Given the description of an element on the screen output the (x, y) to click on. 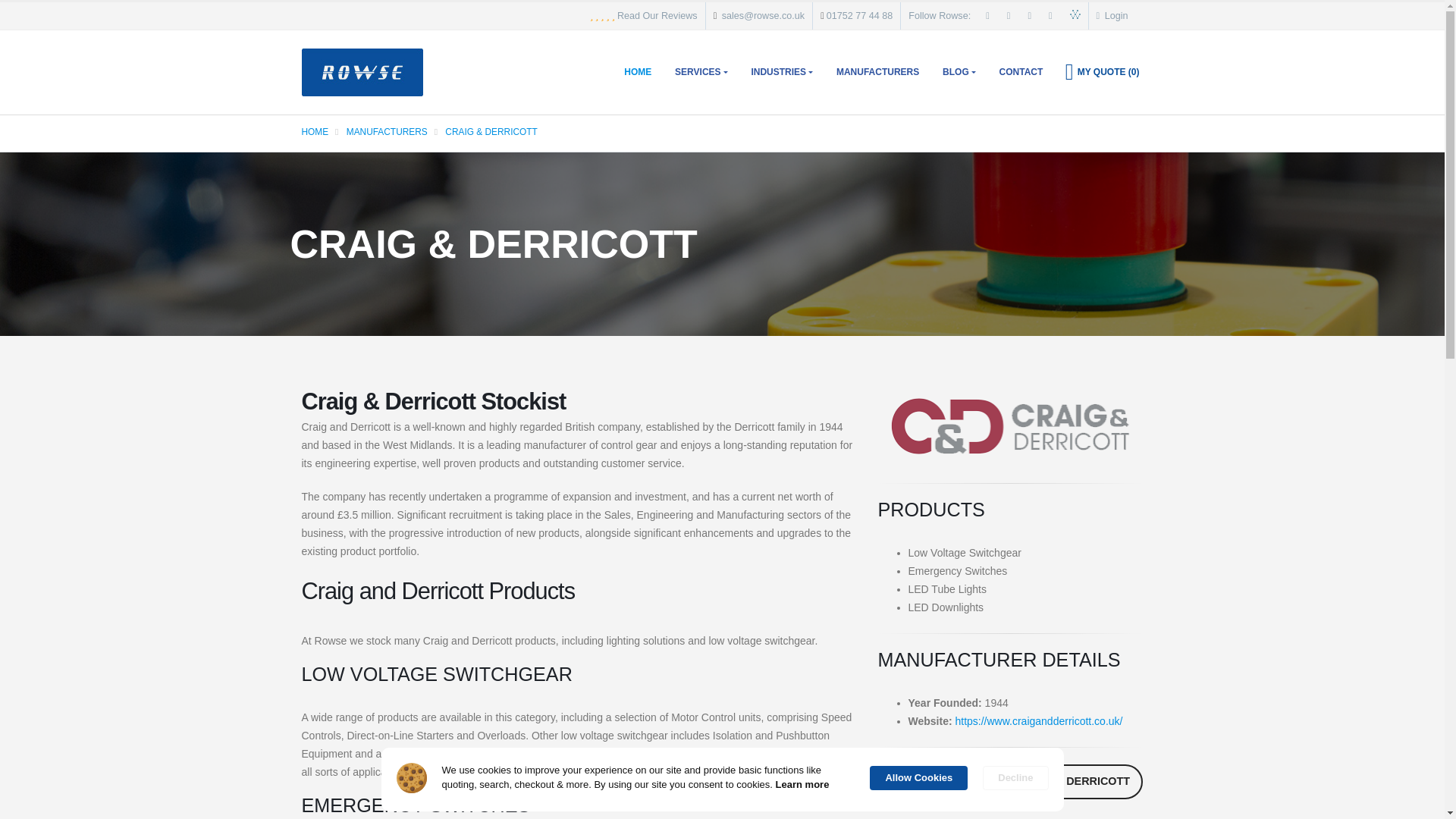
MANUFACTURERS (877, 71)
Call Rowse (860, 15)
01752 77 44 88 (860, 15)
BLOG (959, 71)
SERVICES (700, 71)
HOME (637, 71)
Read Our Reviews (657, 15)
Email Rowse (763, 15)
Login (1112, 15)
INDUSTRIES (781, 71)
Rowse on Wevolver (1075, 15)
Rowse Reviews (657, 15)
Rowse (362, 70)
Login (1112, 15)
